Given the description of an element on the screen output the (x, y) to click on. 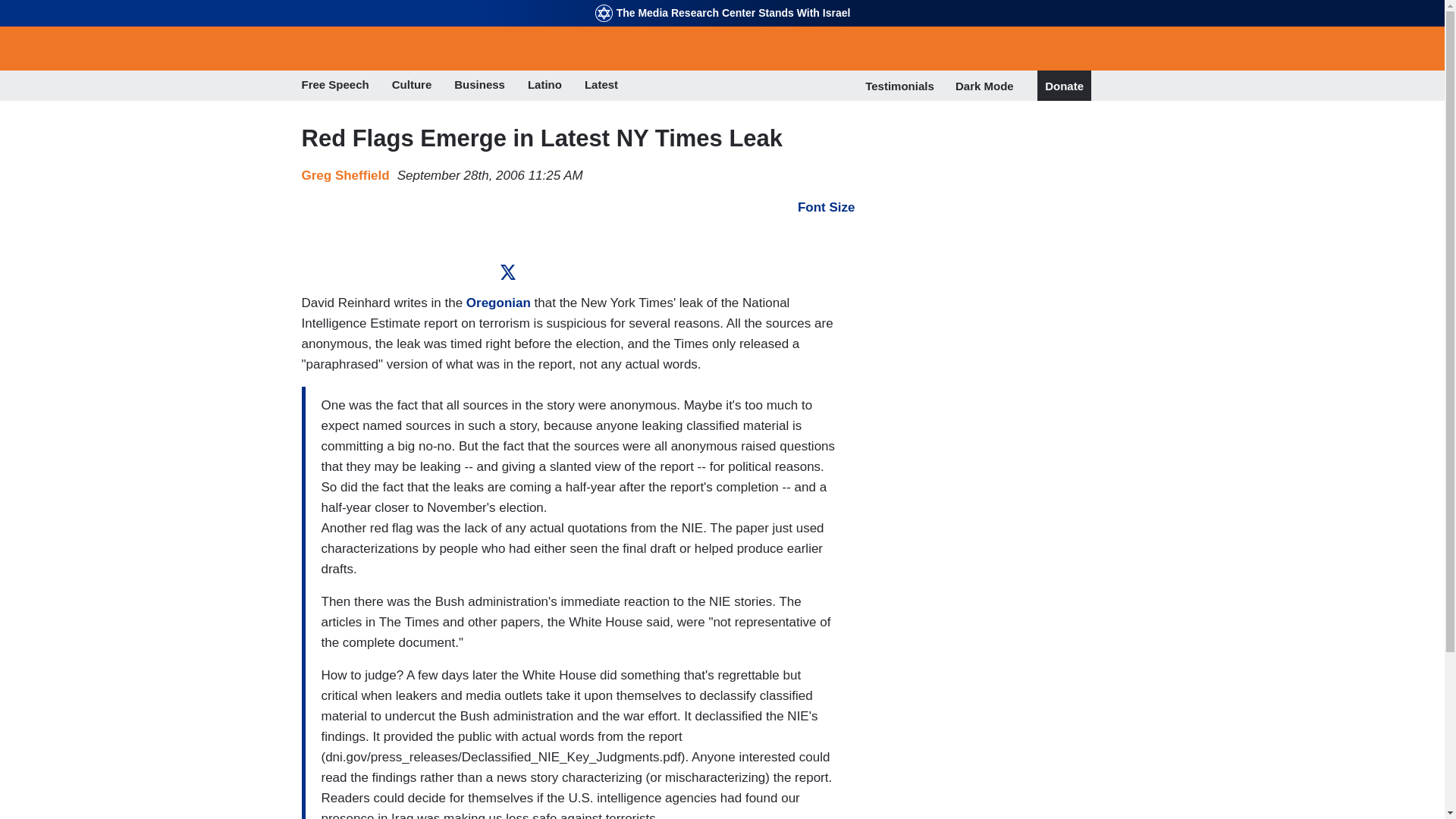
Latest (601, 85)
Testimonials (899, 85)
Business (479, 85)
Dark Mode (984, 85)
Free Speech (335, 85)
Latino (544, 85)
Skip to main content (721, 1)
Culture (411, 85)
Donate (1064, 86)
